Given the description of an element on the screen output the (x, y) to click on. 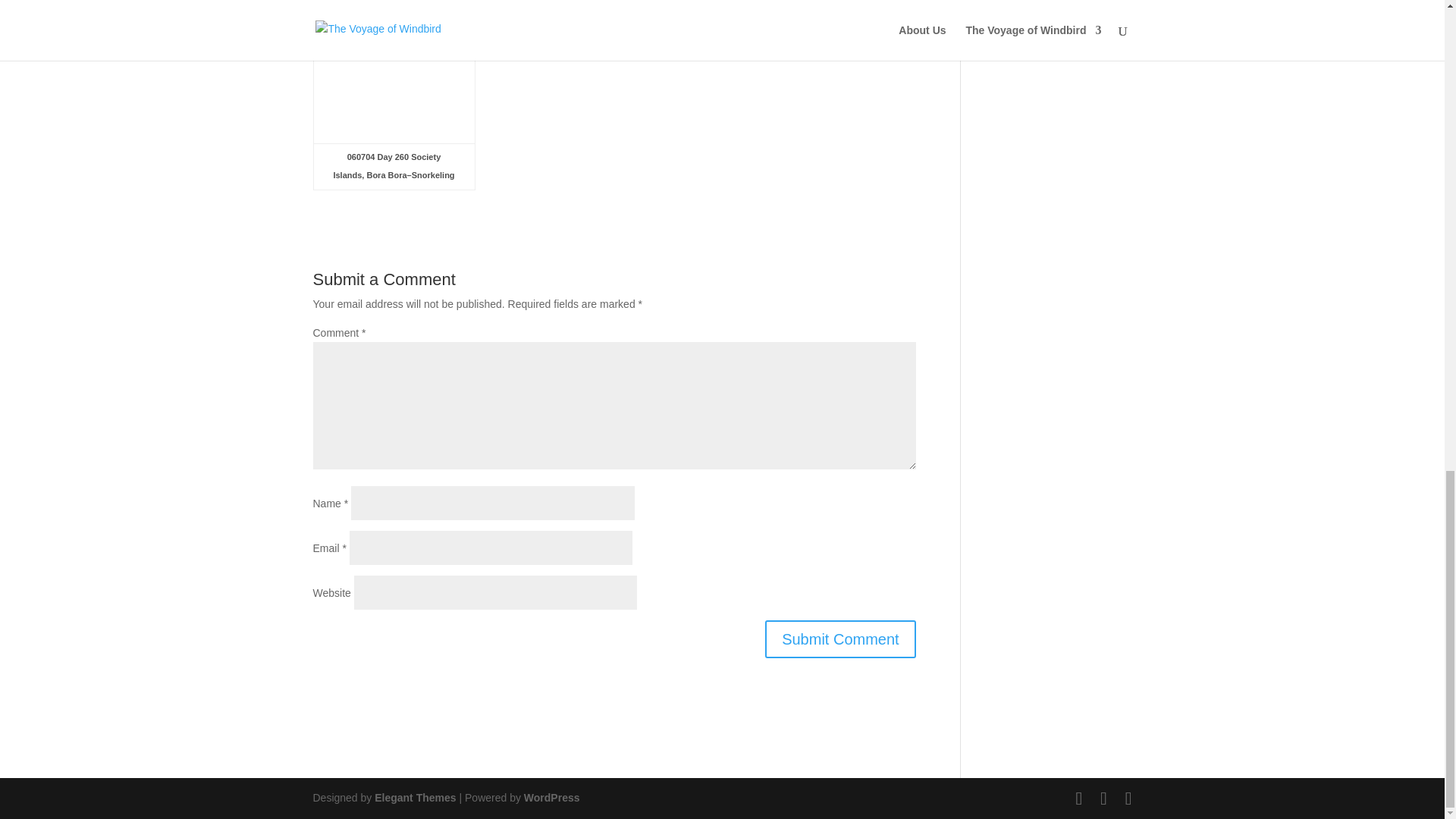
Premium WordPress Themes (414, 797)
Submit Comment (840, 638)
Submit Comment (840, 638)
WordPress (551, 797)
Elegant Themes (414, 797)
